Given the description of an element on the screen output the (x, y) to click on. 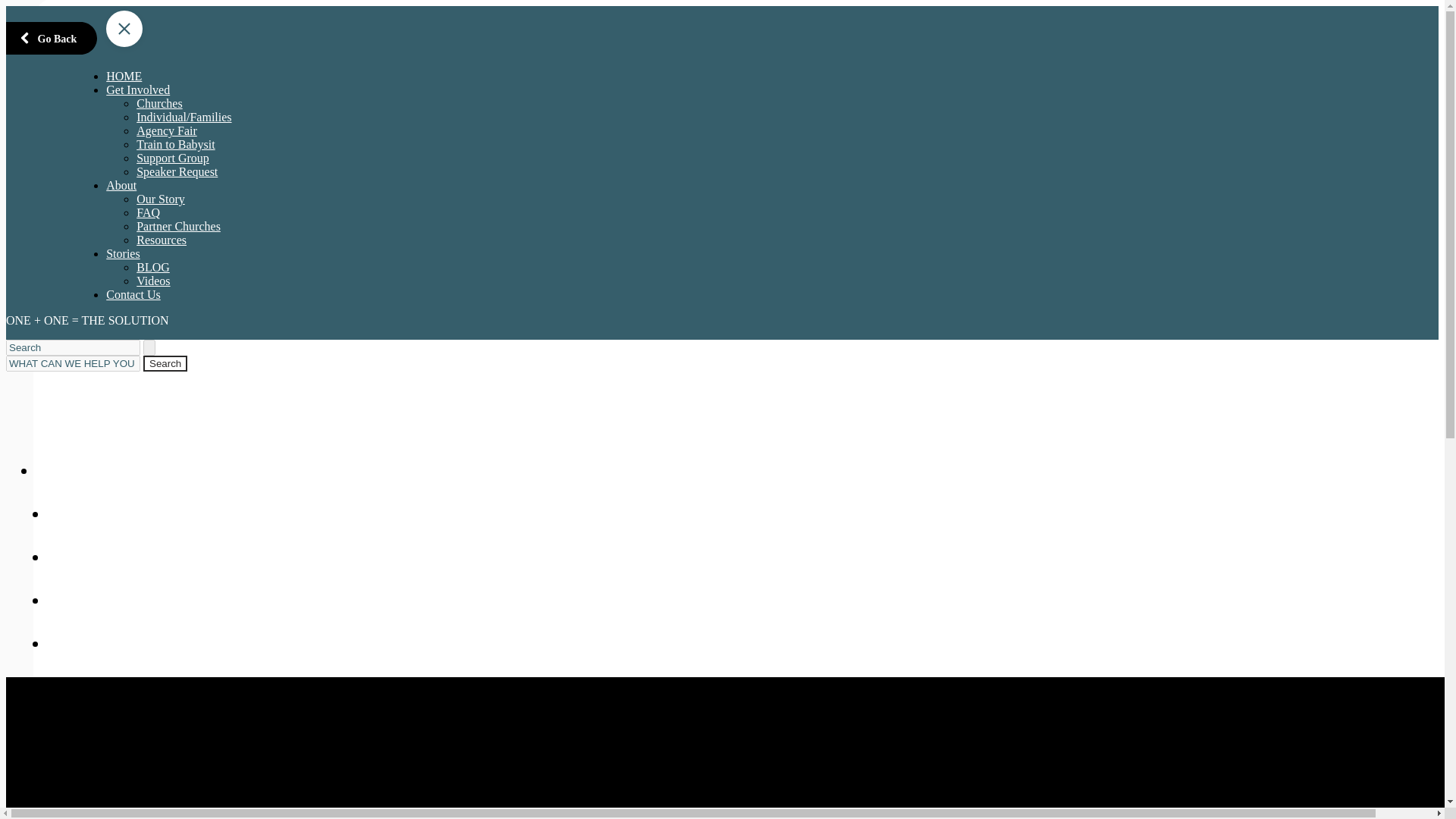
HOME (123, 75)
Agency Fair (166, 130)
Resources (161, 239)
BLOG (153, 267)
Get Involved (102, 513)
Stories (77, 599)
Contact Us (94, 642)
Videos (153, 280)
FAQ (148, 212)
About (73, 556)
Search (164, 363)
HOME (51, 38)
Search (64, 470)
About (164, 363)
